Given the description of an element on the screen output the (x, y) to click on. 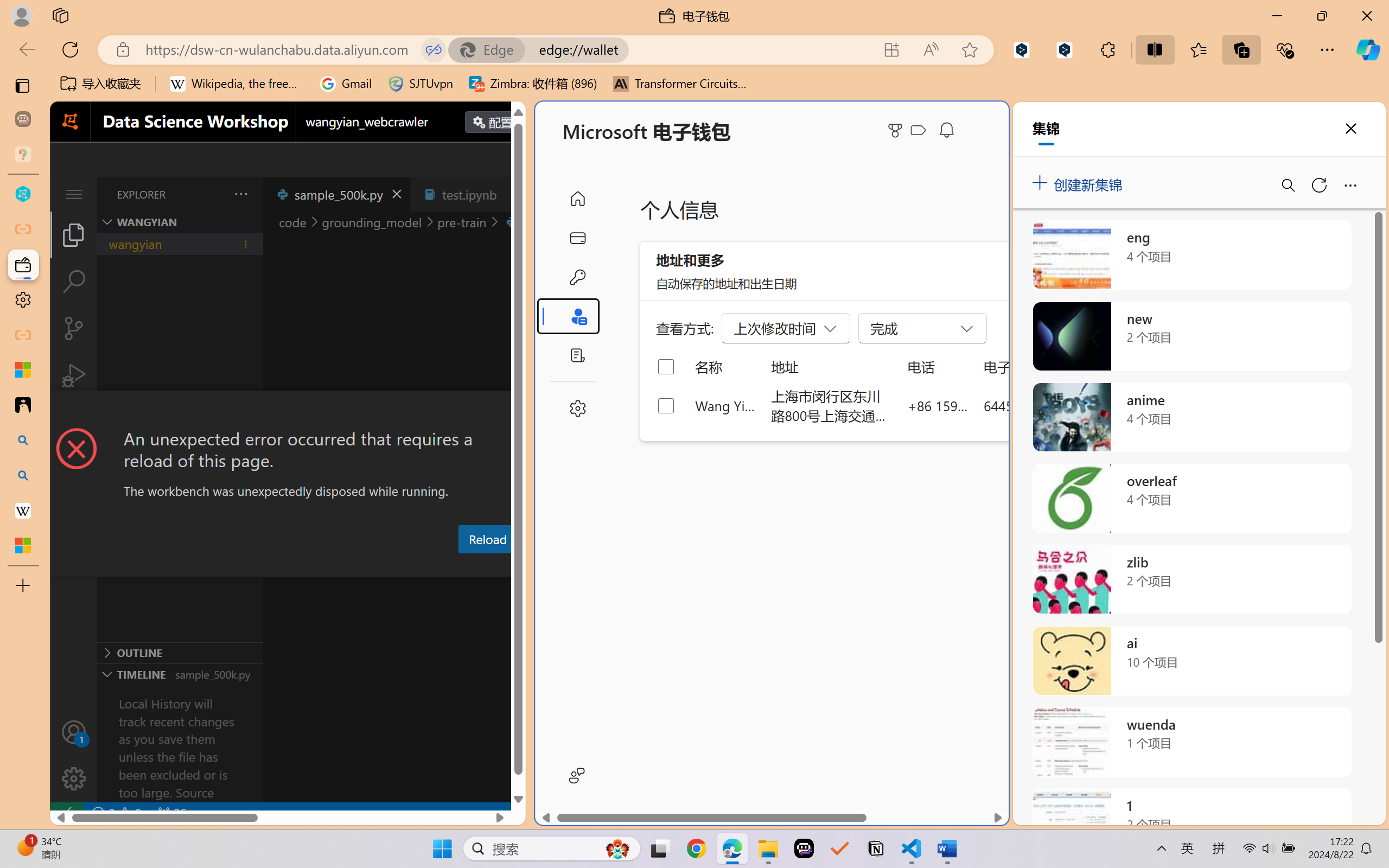
Microsoft Cashback (920, 130)
Explorer (Ctrl+Shift+E) (73, 234)
Close Dialog (520, 410)
Accounts - Sign in requested (73, 732)
Class: actions-container (287, 410)
Copilot (Ctrl+Shift+.) (1368, 49)
